Given the description of an element on the screen output the (x, y) to click on. 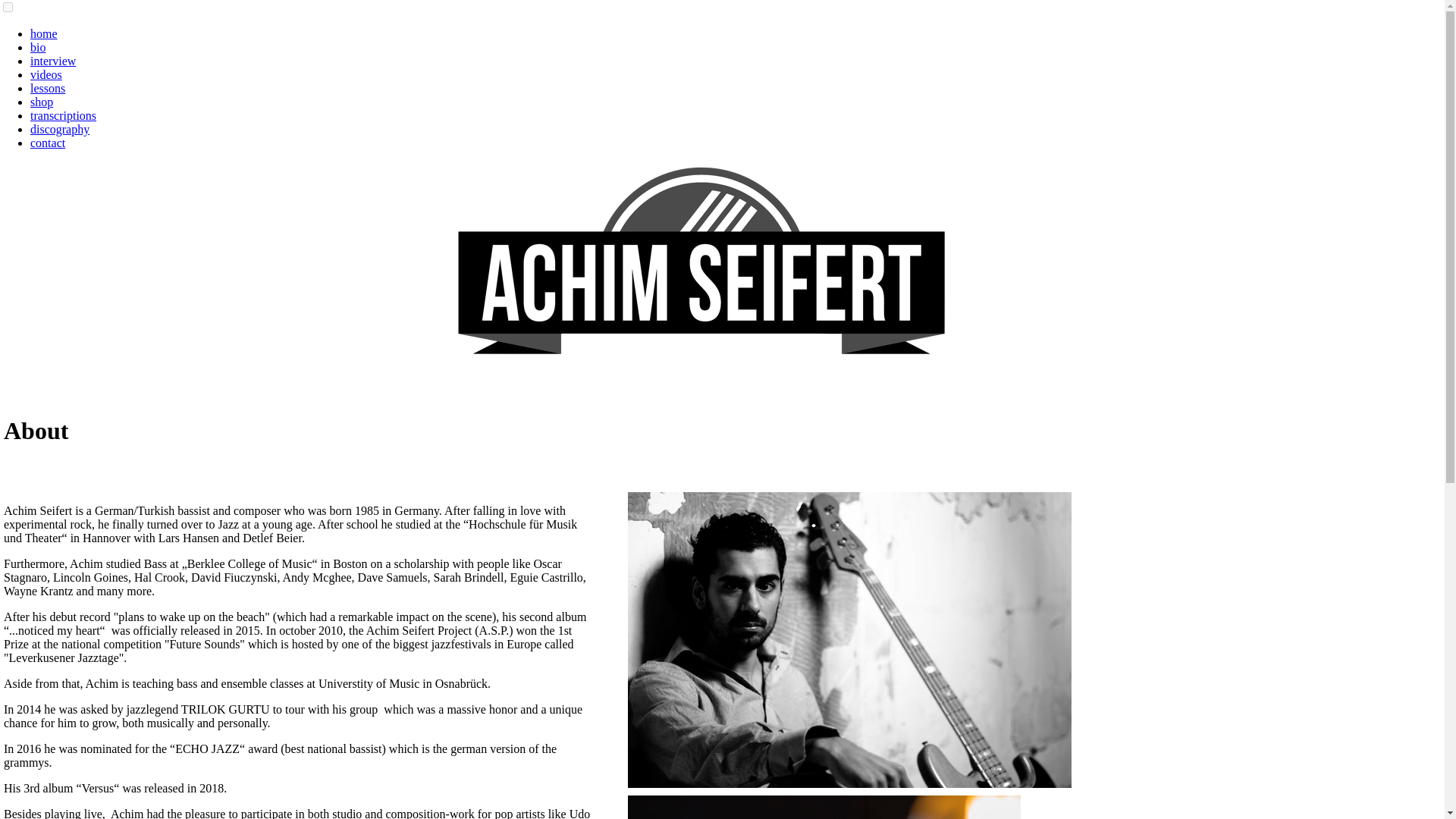
on (7, 7)
transcriptions (63, 115)
shop (41, 101)
contact (47, 142)
videos (46, 74)
lessons (47, 88)
home (44, 33)
interview (52, 60)
bio (37, 47)
discography (59, 128)
